Given the description of an element on the screen output the (x, y) to click on. 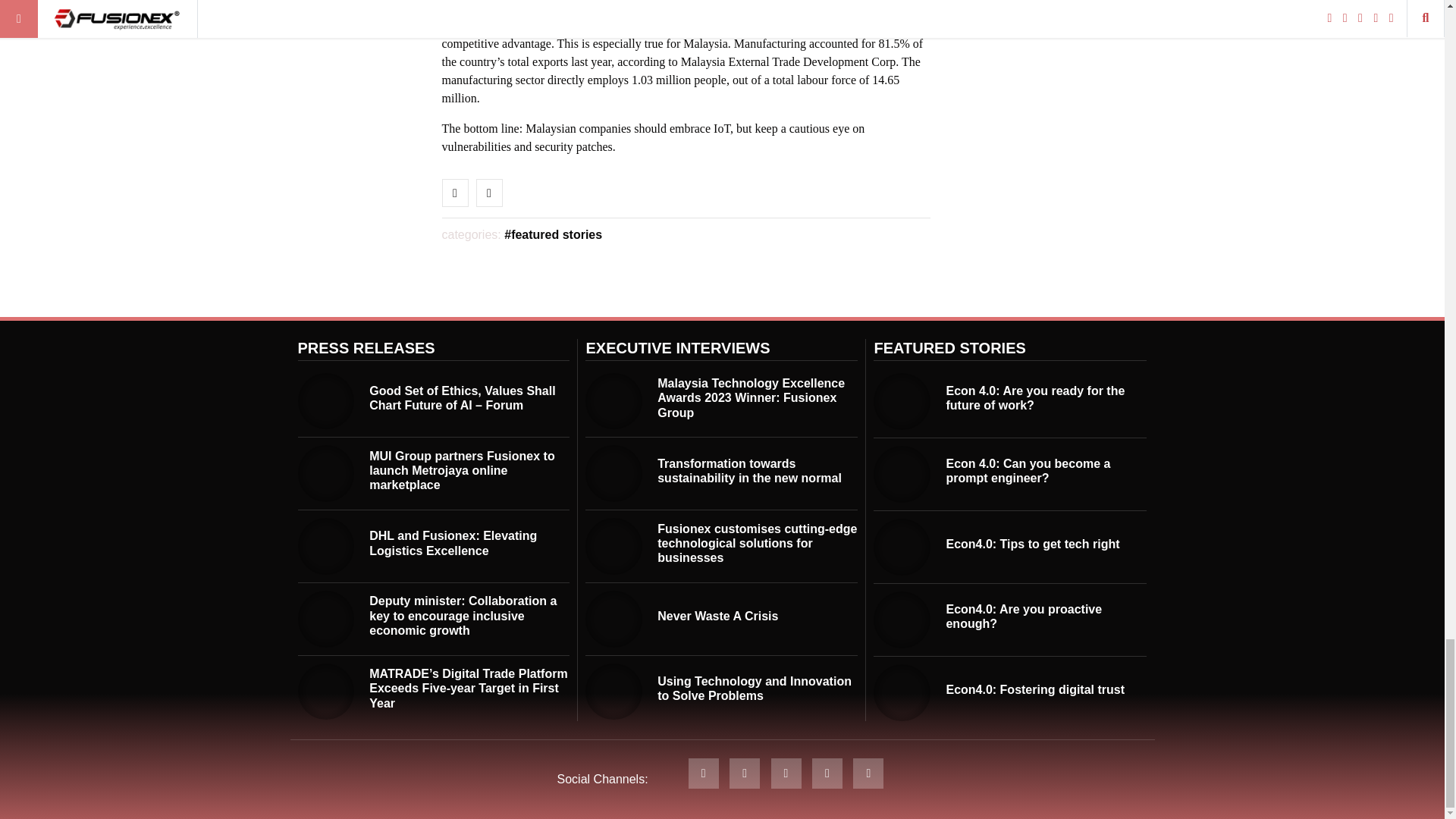
Never Waste A Crisis (717, 615)
Transformation towards sustainability in the new normal (749, 470)
Transformation towards sustainability in the new normal (613, 473)
DHL and Fusionex: Elevating Logistics Excellence (453, 542)
DHL and Fusionex: Elevating Logistics Excellence (453, 542)
Transformation towards sustainability in the new normal (749, 470)
featured stories (552, 234)
